Given the description of an element on the screen output the (x, y) to click on. 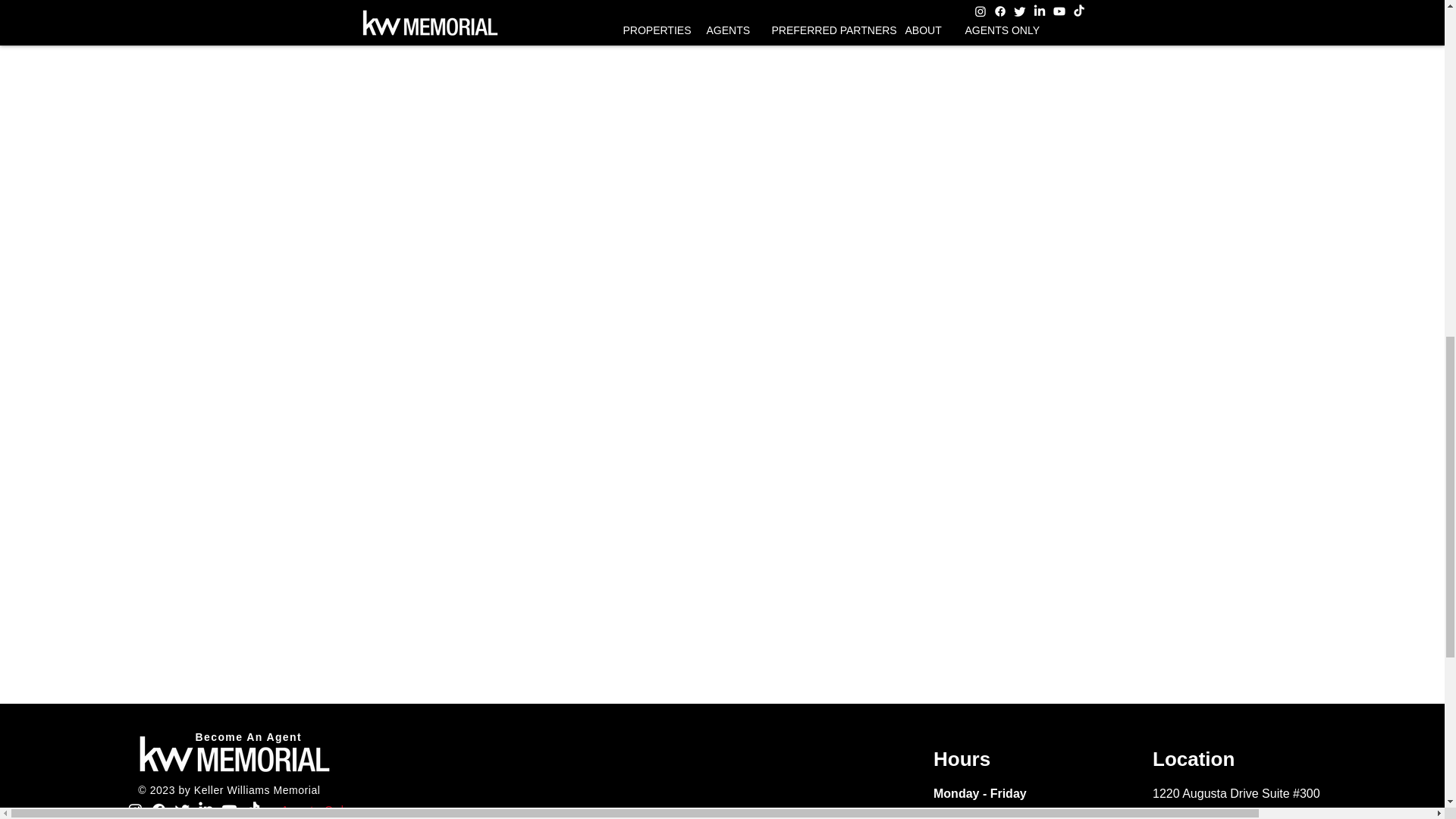
Agents Only (316, 809)
Houston, TX 77057 (1205, 815)
Become An Agent (249, 736)
